Given the description of an element on the screen output the (x, y) to click on. 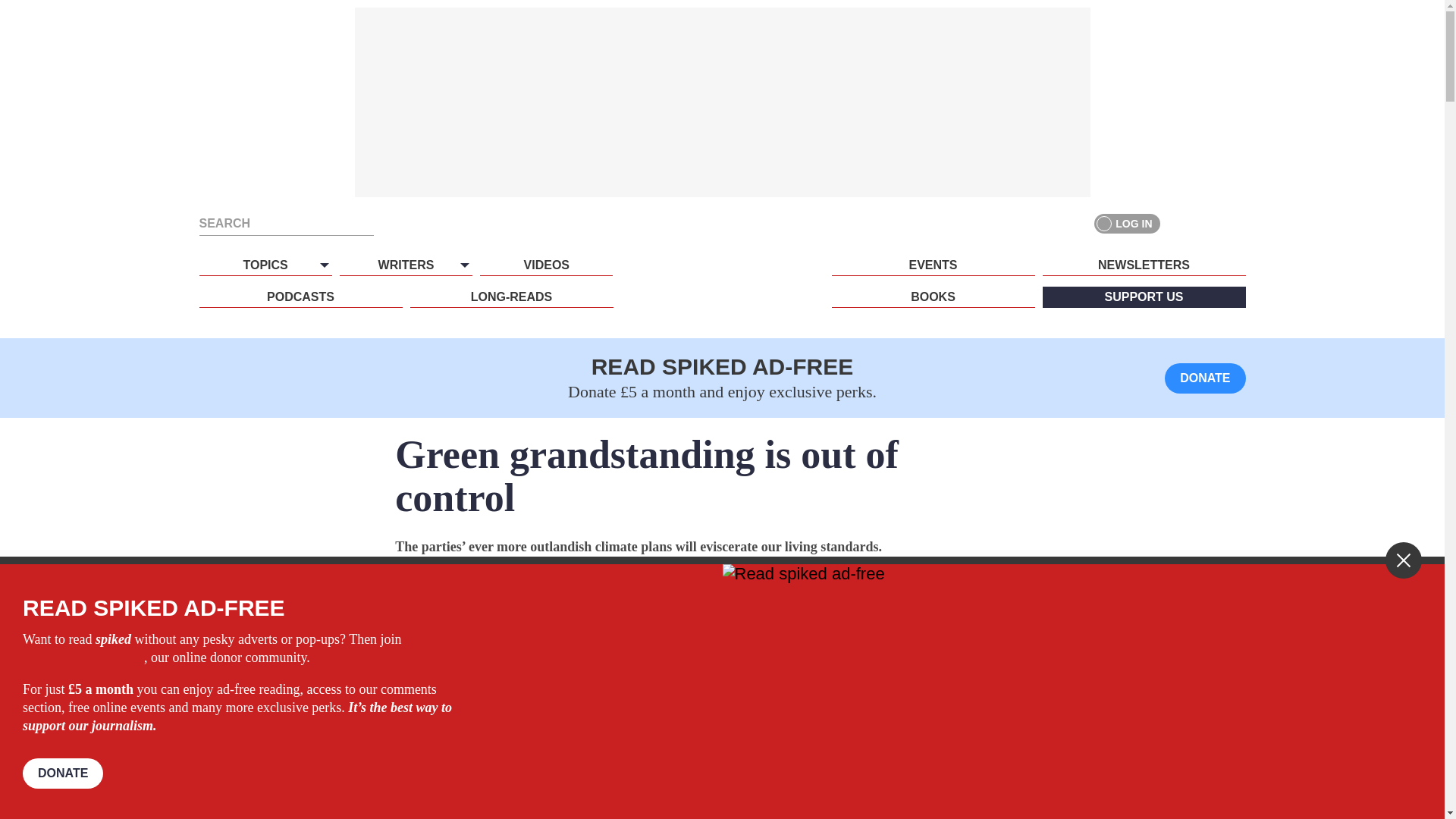
PODCASTS (299, 296)
EVENTS (932, 265)
NEWSLETTERS (1143, 265)
SUPPORT US (1143, 296)
spiked - humanity is underrated (722, 293)
LONG-READS (510, 296)
VIDEOS (546, 265)
TOPICS (264, 265)
WRITERS (405, 265)
Twitter (1207, 223)
BOOKS (932, 296)
LOG IN (1126, 223)
YouTube (1234, 223)
Facebook (1180, 223)
